Given the description of an element on the screen output the (x, y) to click on. 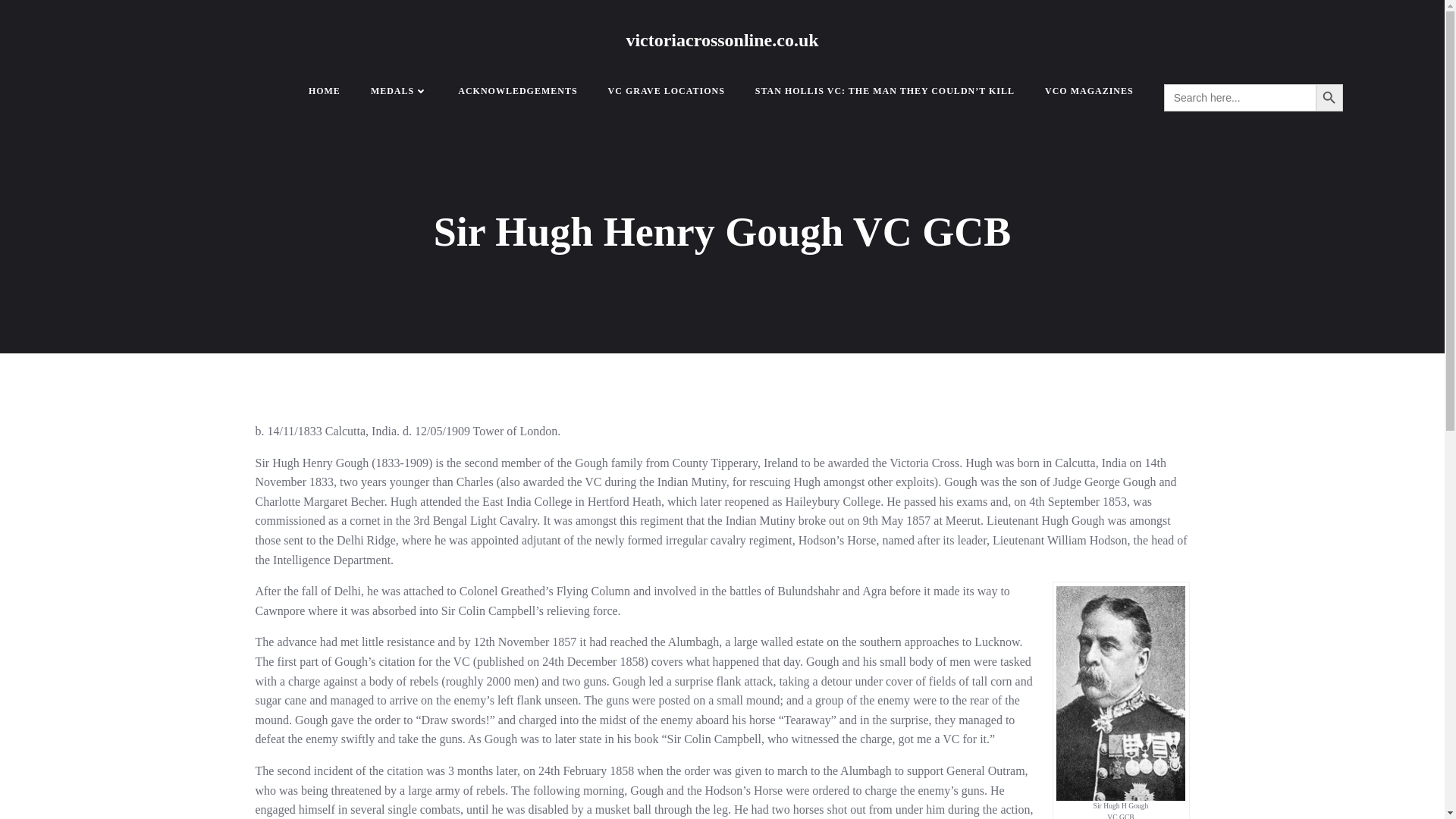
ACKNOWLEDGEMENTS (517, 90)
MEDALS (399, 90)
victoriacrossonline.co.uk (722, 40)
Search Button (1329, 97)
VC GRAVE LOCATIONS (666, 90)
VCO MAGAZINES (1089, 90)
HOME (324, 90)
